Given the description of an element on the screen output the (x, y) to click on. 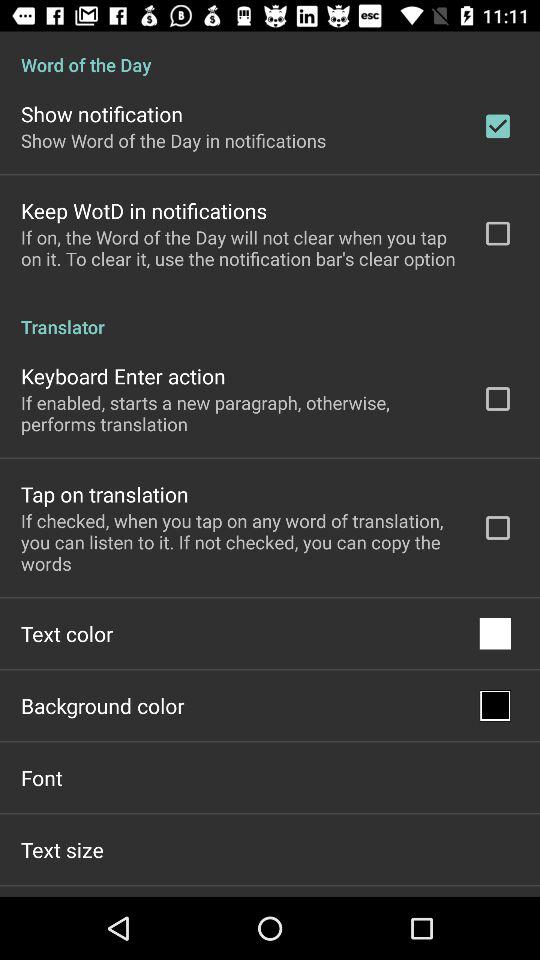
swipe to background color (102, 705)
